Given the description of an element on the screen output the (x, y) to click on. 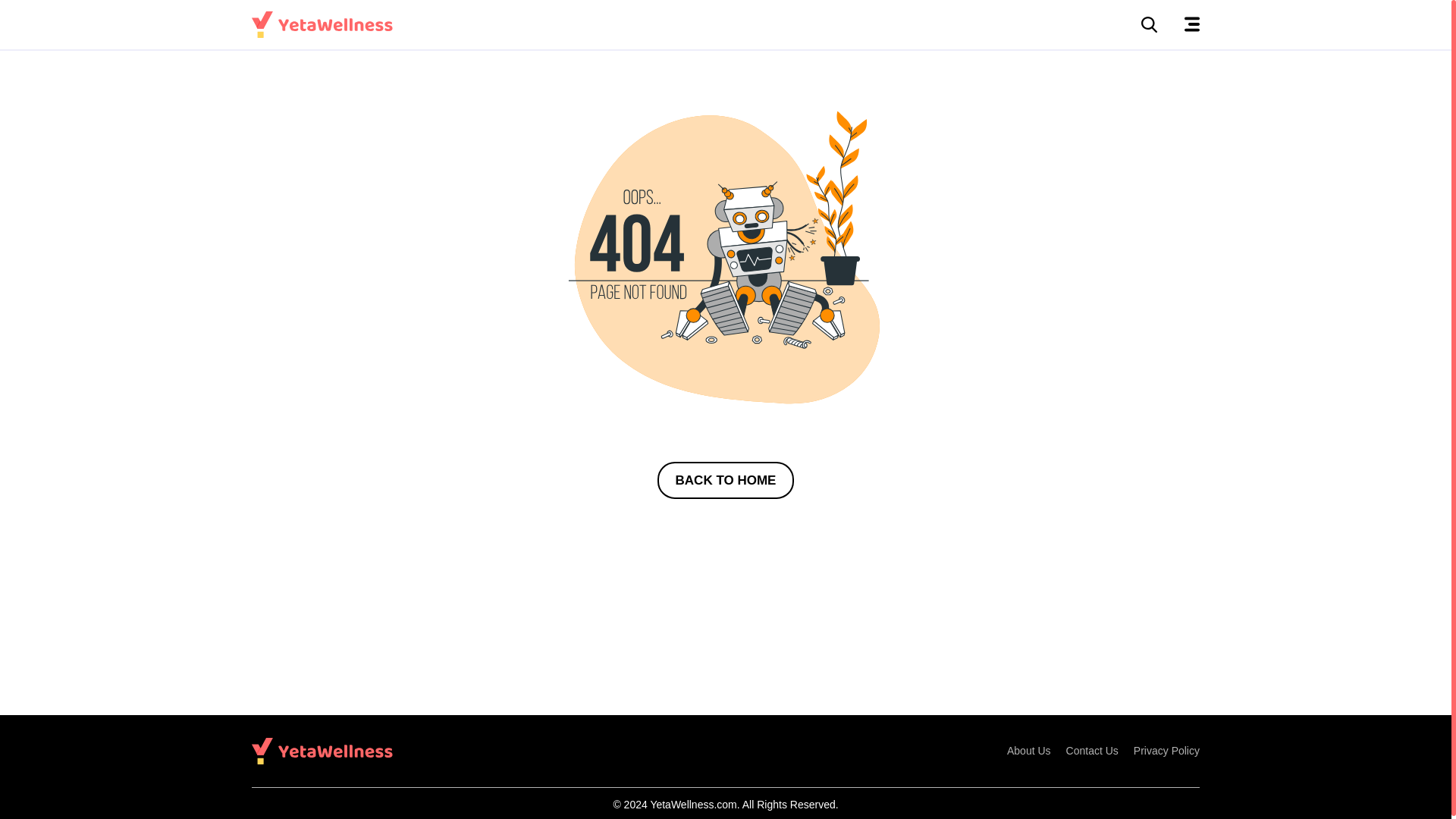
About Us (1029, 750)
BACK TO HOME (726, 480)
Privacy Policy (1166, 750)
BACK TO HOME (726, 480)
Contact Us (1091, 750)
